Given the description of an element on the screen output the (x, y) to click on. 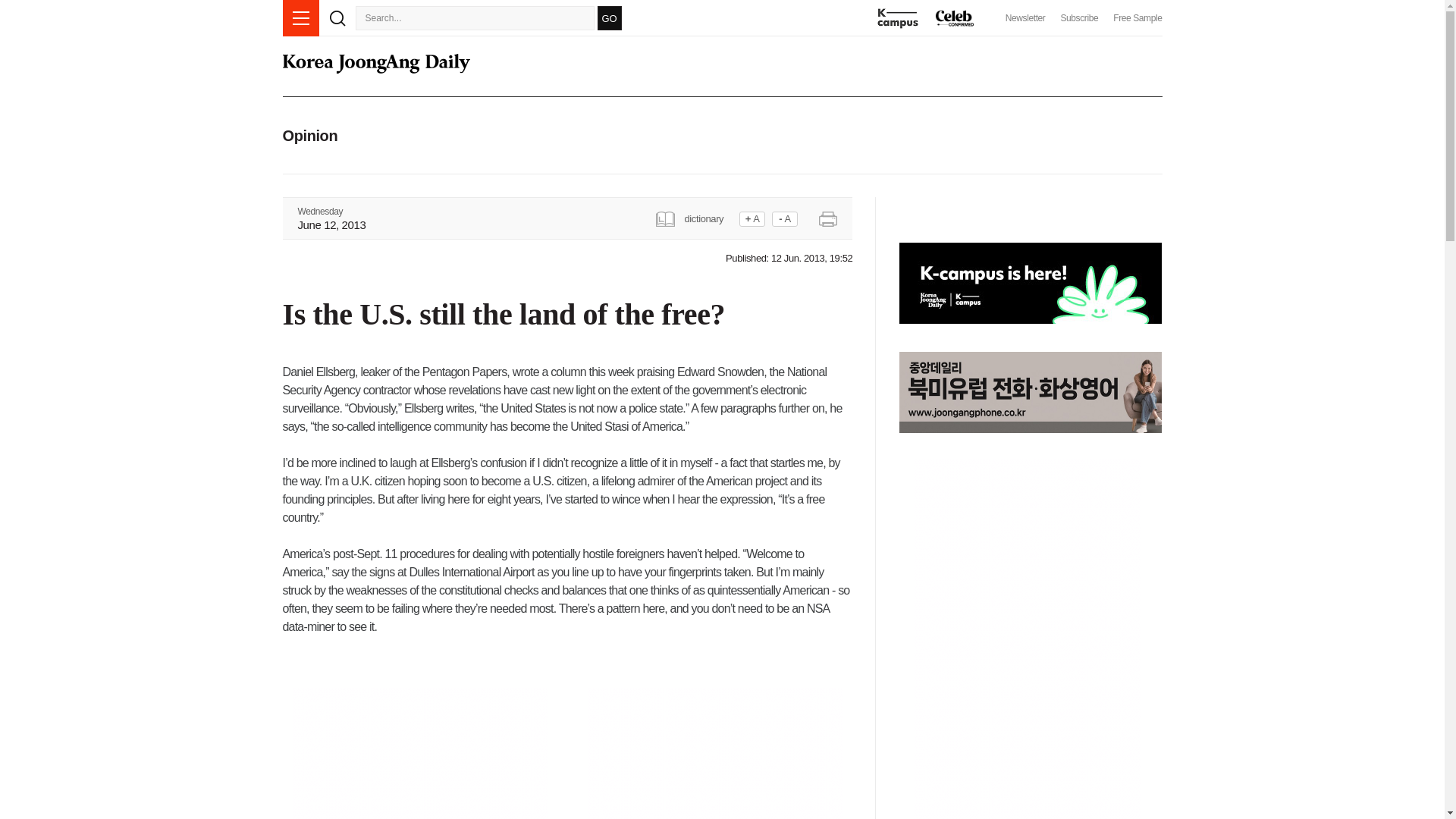
Newsletter (1025, 18)
Published: 12 Jun. 2013, 19:52 (788, 258)
3rd party ad content (715, 753)
Free Sample (1137, 18)
Subscribe (1078, 18)
GO (608, 17)
dictionary (695, 217)
3rd party ad content (164, 317)
- A (784, 218)
3rd party ad content (419, 753)
